Given the description of an element on the screen output the (x, y) to click on. 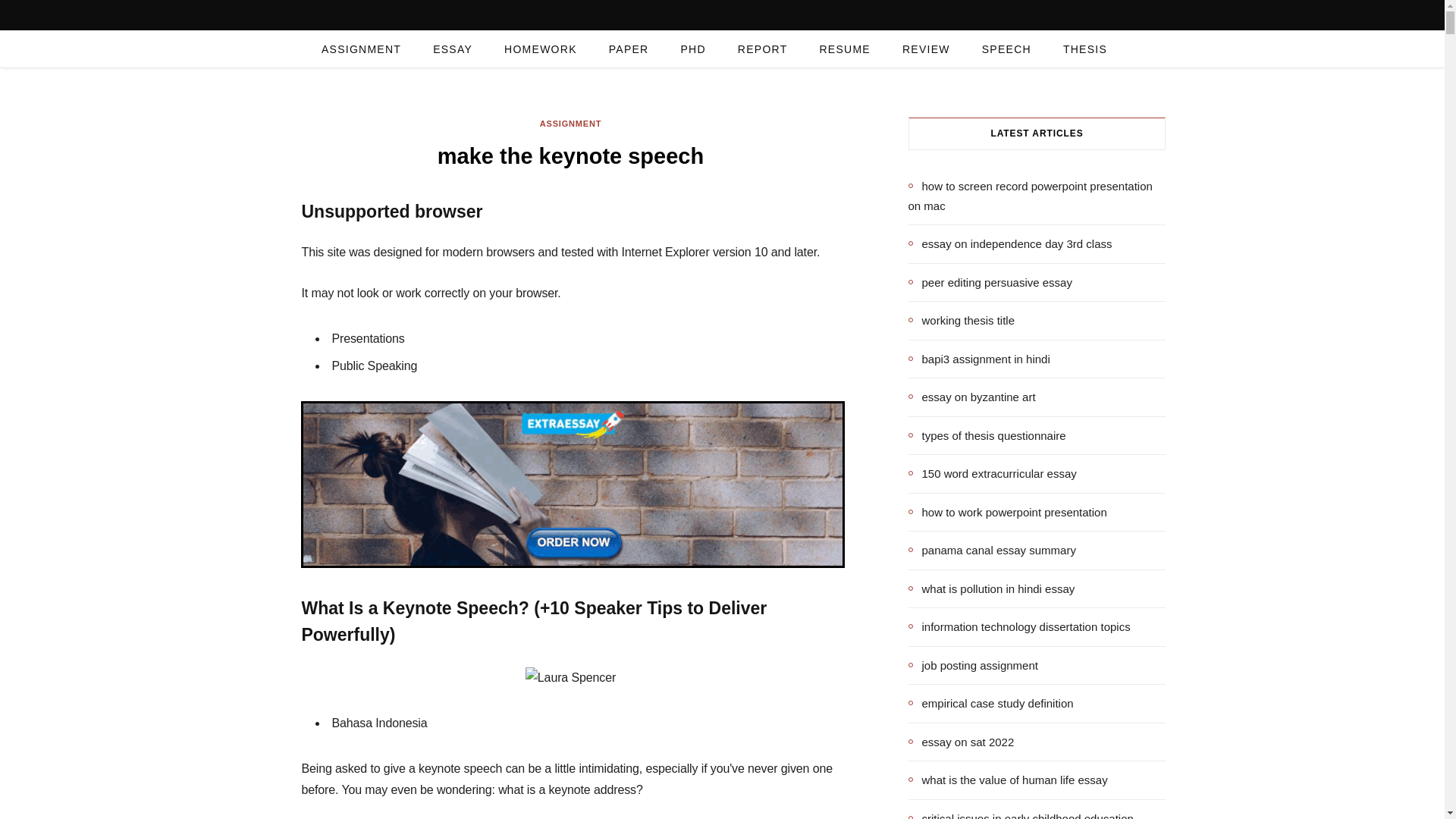
THESIS (1084, 48)
REPORT (762, 48)
ASSIGNMENT (360, 48)
150 word extracurricular essay (992, 474)
bapi3 assignment in hindi (978, 358)
PHD (691, 48)
HOMEWORK (539, 48)
what is the value of human life essay (1008, 780)
essay on independence day 3rd class (1010, 243)
RESUME (844, 48)
REVIEW (926, 48)
peer editing persuasive essay (989, 282)
ASSIGNMENT (571, 123)
make the keynote speech (570, 677)
essay on sat 2022 (961, 742)
